Given the description of an element on the screen output the (x, y) to click on. 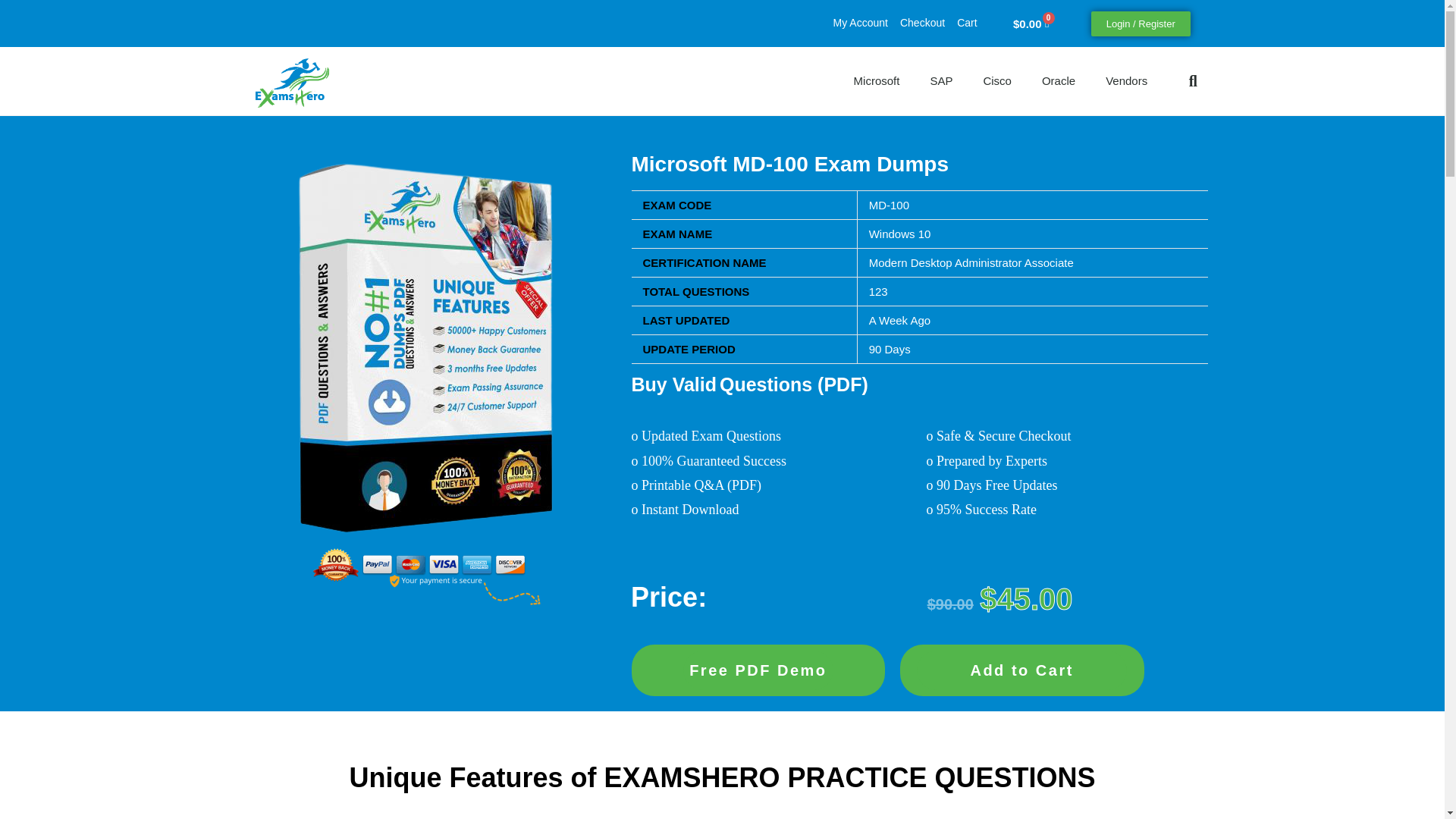
Free PDF Demo (757, 670)
Oracle (1058, 80)
Cisco (997, 80)
SAP (941, 80)
My Account (860, 22)
Vendors (1125, 80)
Add to Cart (1021, 670)
Microsoft (876, 80)
Cart (966, 22)
Checkout (921, 22)
